Given the description of an element on the screen output the (x, y) to click on. 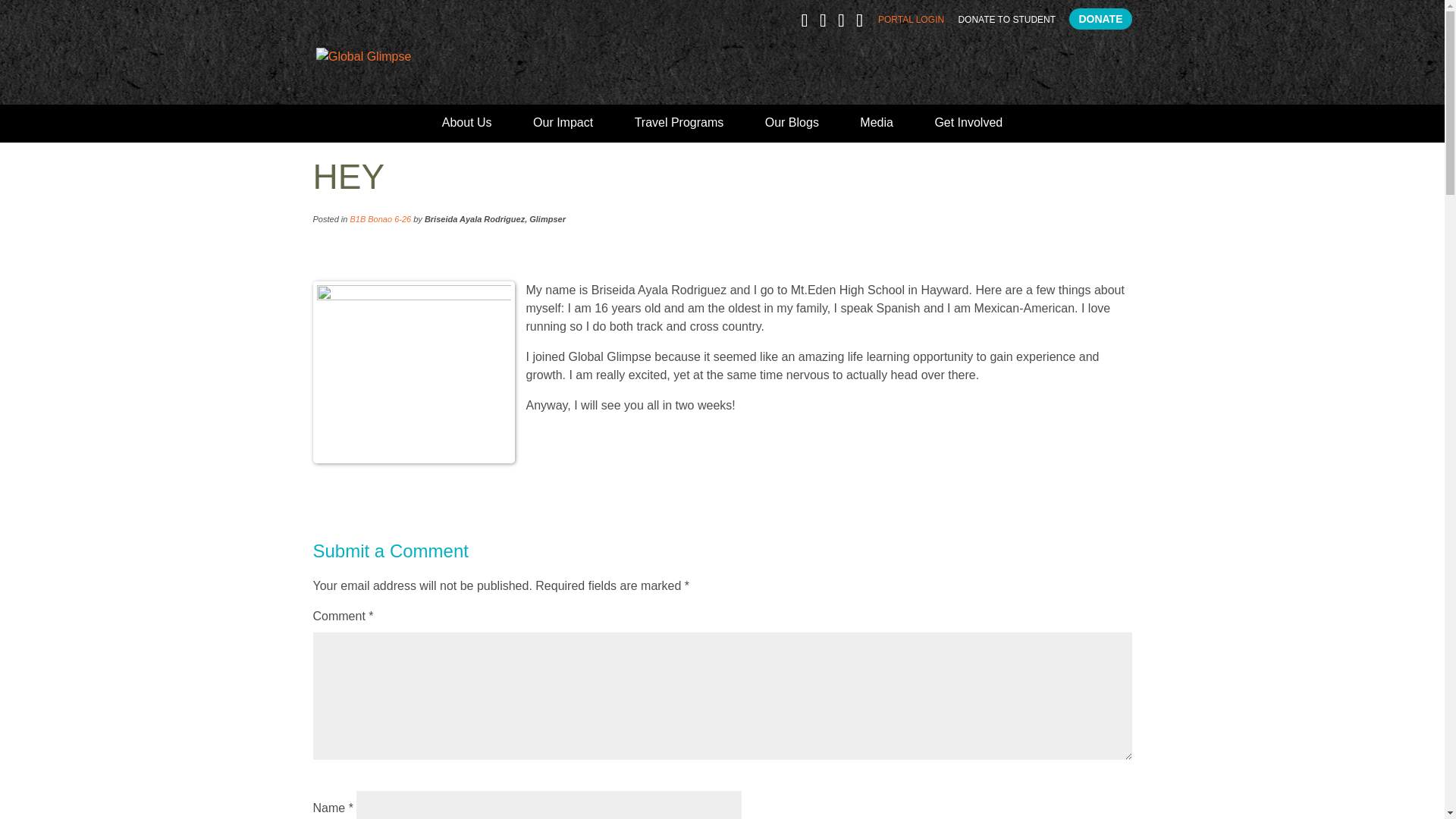
PORTAL LOGIN (910, 23)
About Us (467, 128)
DONATE (1099, 18)
DONATE TO STUDENT (1006, 23)
Travel Programs (678, 128)
Our Blogs (791, 128)
Get Involved (968, 128)
Our Impact (562, 128)
Media (876, 128)
